Given the description of an element on the screen output the (x, y) to click on. 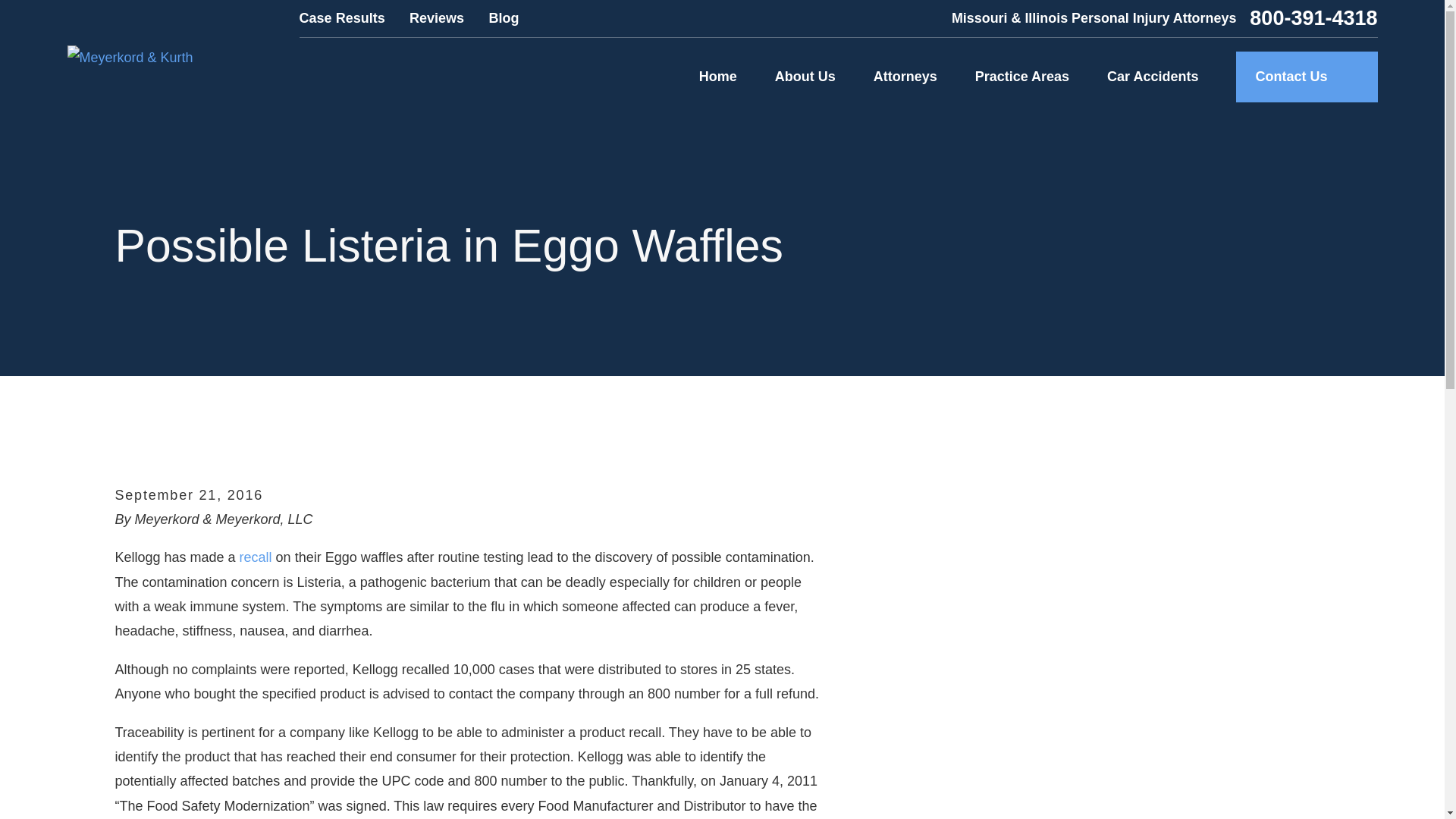
Home (717, 77)
About Us (804, 77)
Case Results (342, 17)
Car Accidents (1152, 77)
Attorneys (905, 77)
800-391-4318 (1313, 18)
Blog (502, 17)
Practice Areas (1021, 77)
Reviews (436, 17)
Home (129, 57)
